Given the description of an element on the screen output the (x, y) to click on. 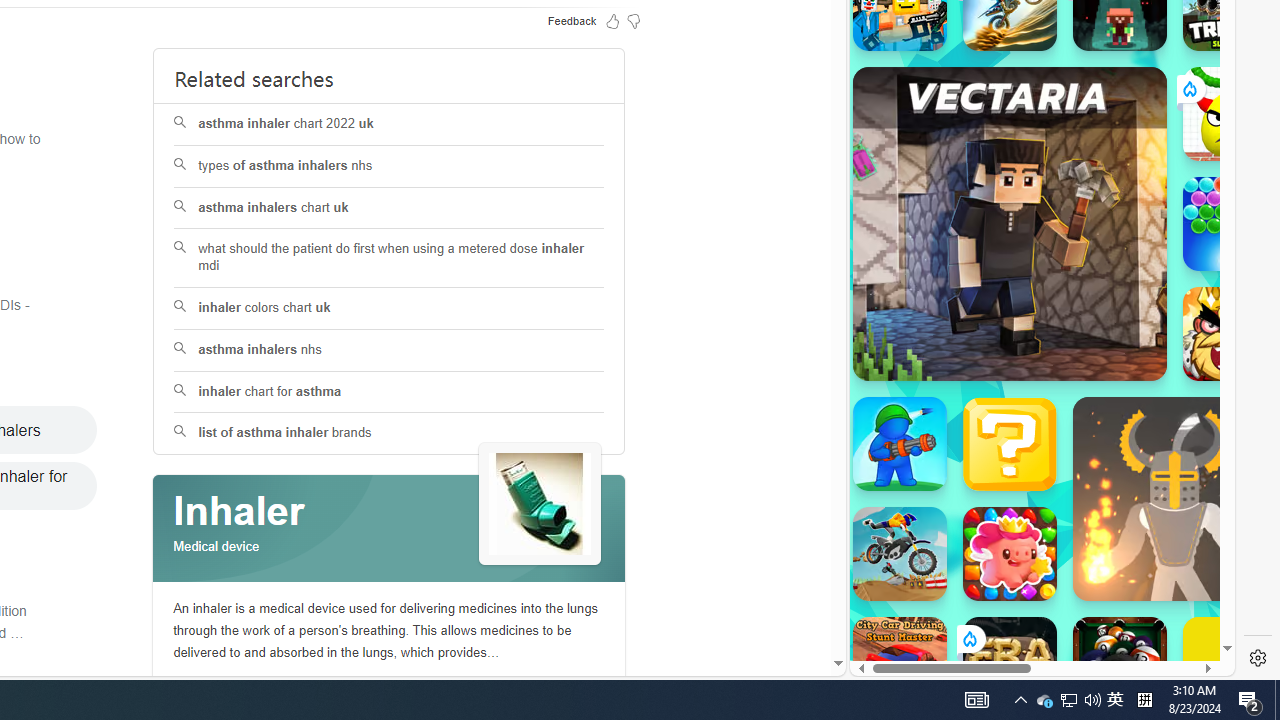
Match Arena (1009, 553)
Vectaria.io (1009, 223)
Search more (792, 604)
list of asthma inhaler brands (388, 434)
Feedback Like (612, 20)
Crazy Bikes Crazy Bikes (899, 553)
Mystery Tile (1009, 443)
War Master (899, 443)
Like a King Like a King (1229, 333)
Mystery Tile (1009, 443)
Poki (1034, 606)
8 Ball Pool With Buddies (1119, 664)
Ragdoll Hit (1174, 498)
